Given the description of an element on the screen output the (x, y) to click on. 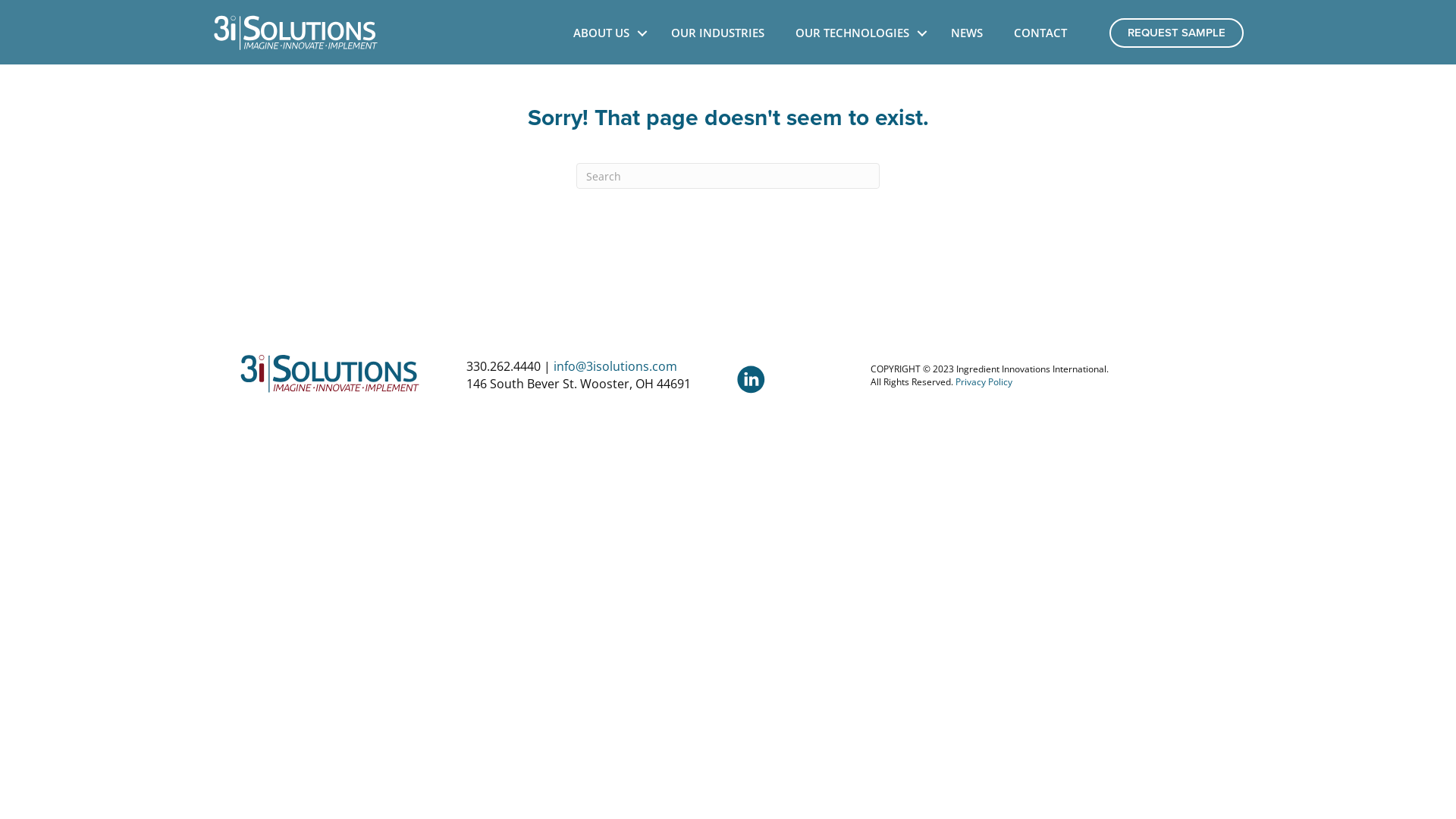
Type and press Enter to search. Element type: hover (727, 175)
REQUEST SAMPLE Element type: text (1176, 32)
info@3isolutions.com Element type: text (615, 365)
linkedin-icon Element type: hover (750, 379)
3i-logo-color Element type: hover (329, 373)
NEWS Element type: text (966, 32)
CONTACT Element type: text (1040, 32)
OUR INDUSTRIES Element type: text (717, 32)
3i-logo-white Element type: hover (295, 32)
ABOUT US Element type: text (606, 32)
Privacy Policy Element type: text (983, 381)
OUR TECHNOLOGIES Element type: text (857, 32)
